Given the description of an element on the screen output the (x, y) to click on. 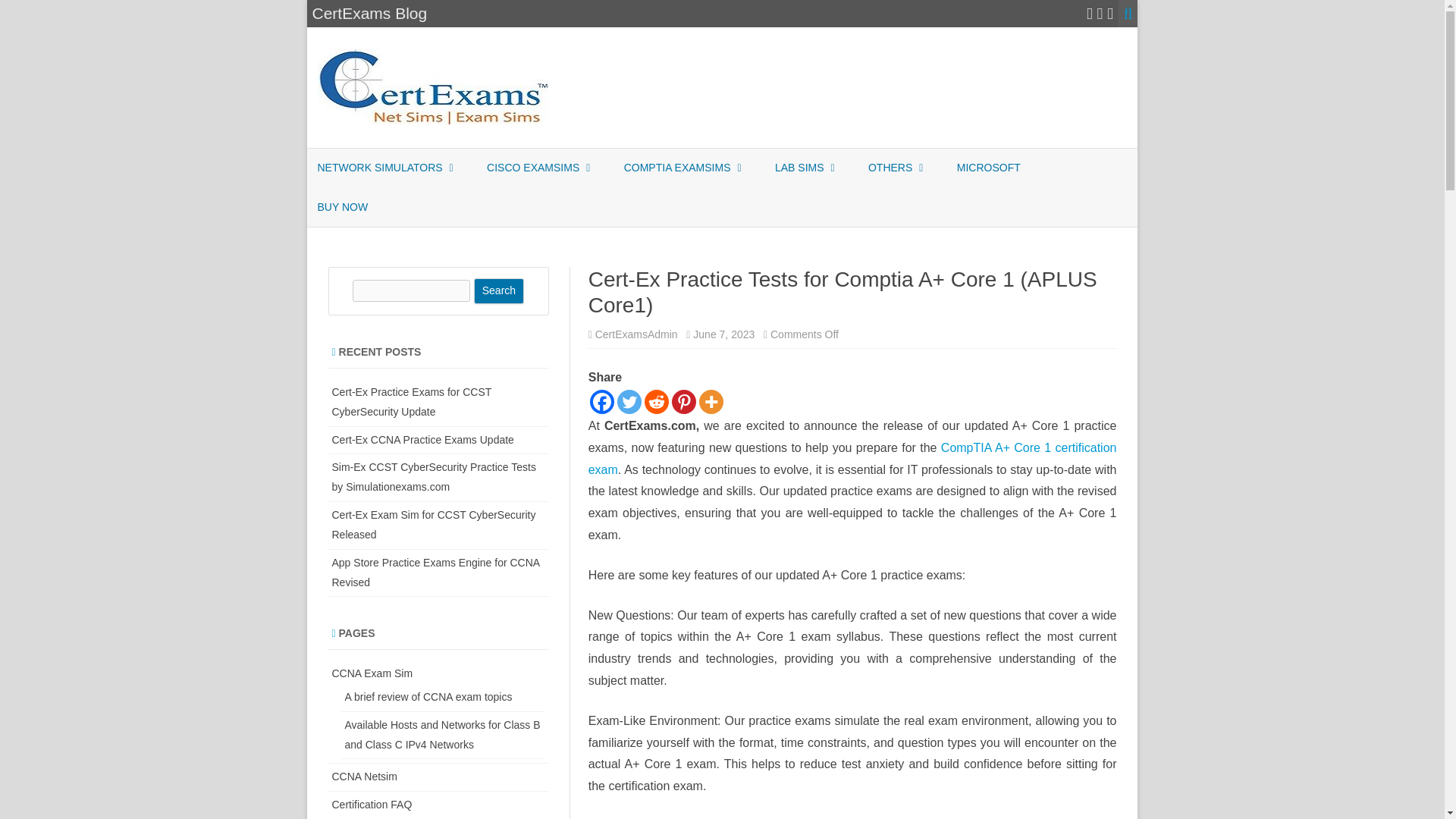
Pinterest (683, 401)
More (710, 401)
Search (499, 290)
Facebook (601, 401)
NETSIM FOR CCNA (392, 203)
Twitter (629, 401)
Reddit (656, 401)
NETWORK SIMULATORS (379, 168)
